Given the description of an element on the screen output the (x, y) to click on. 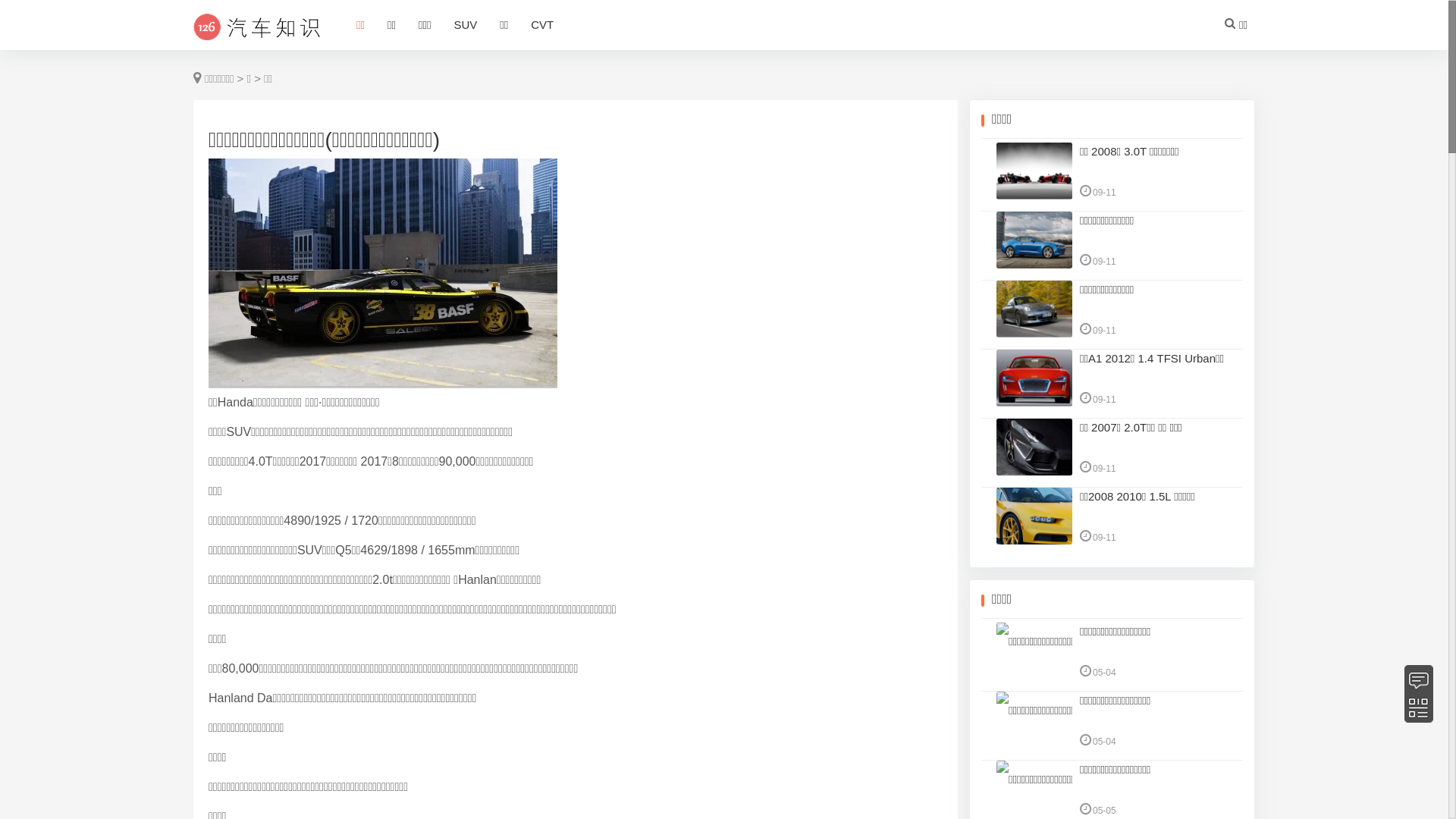
SUV Element type: text (465, 25)
CVT Element type: text (541, 25)
